Given the description of an element on the screen output the (x, y) to click on. 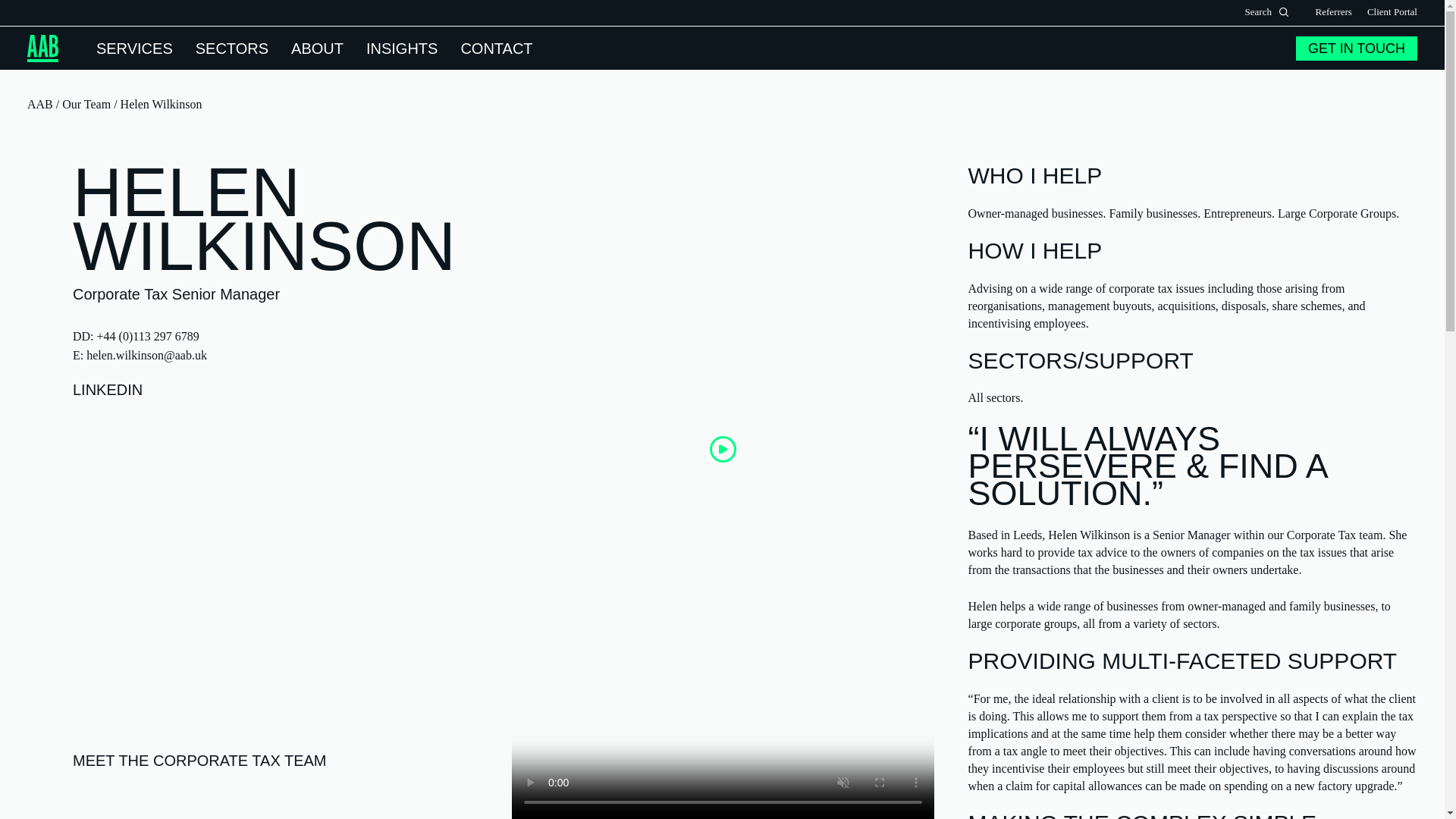
Search (1283, 11)
SECTORS (231, 47)
Client Portal (1391, 12)
Referrers (1334, 12)
SERVICES (134, 47)
Search (1283, 11)
ABOUT (317, 47)
AAB Logo (42, 48)
